Given the description of an element on the screen output the (x, y) to click on. 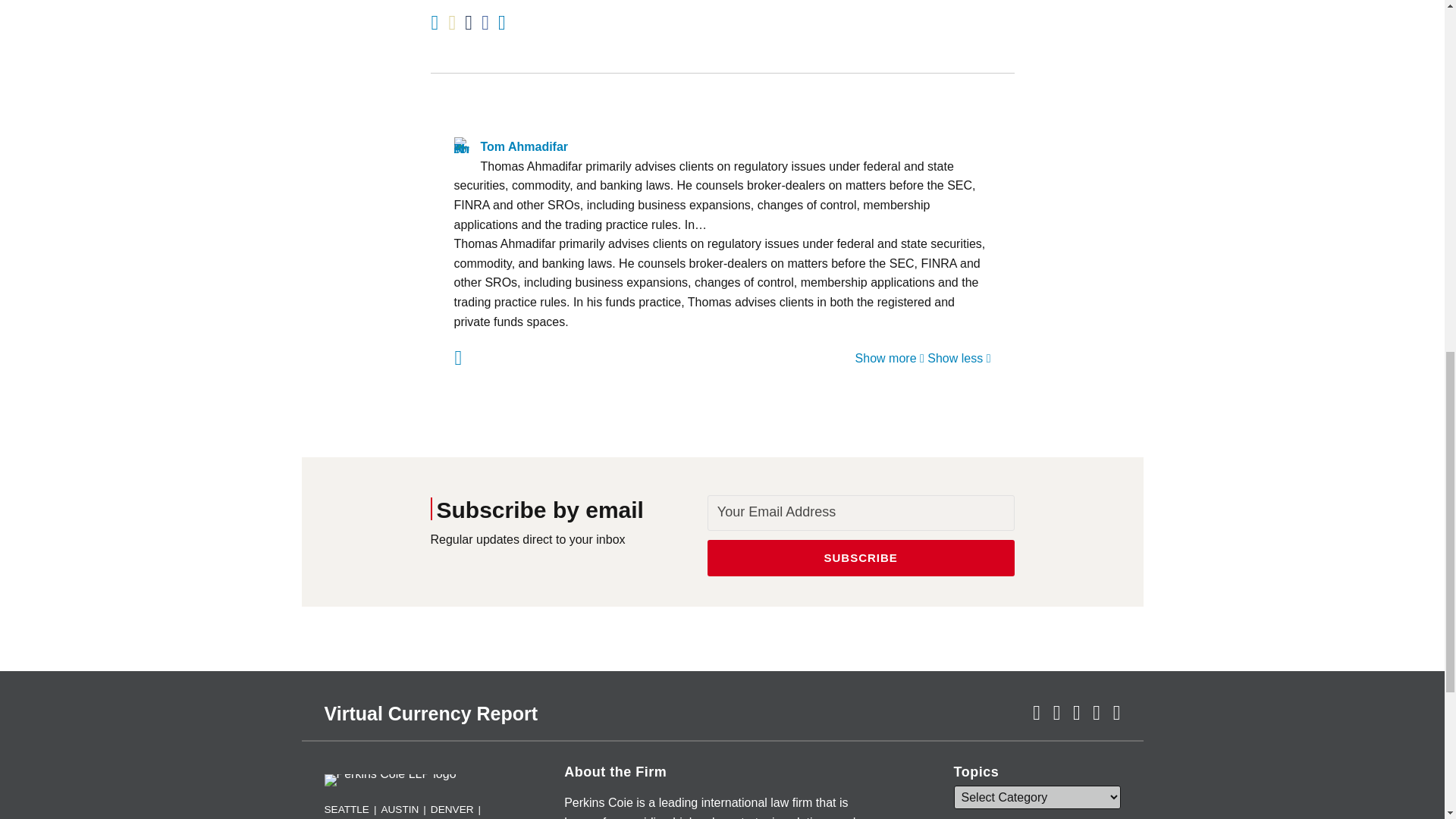
Show less (958, 358)
Subscribe (860, 557)
Show more (890, 358)
Tom Ahmadifar (721, 147)
Subscribe (860, 557)
Virtual Currency Report (431, 712)
